Given the description of an element on the screen output the (x, y) to click on. 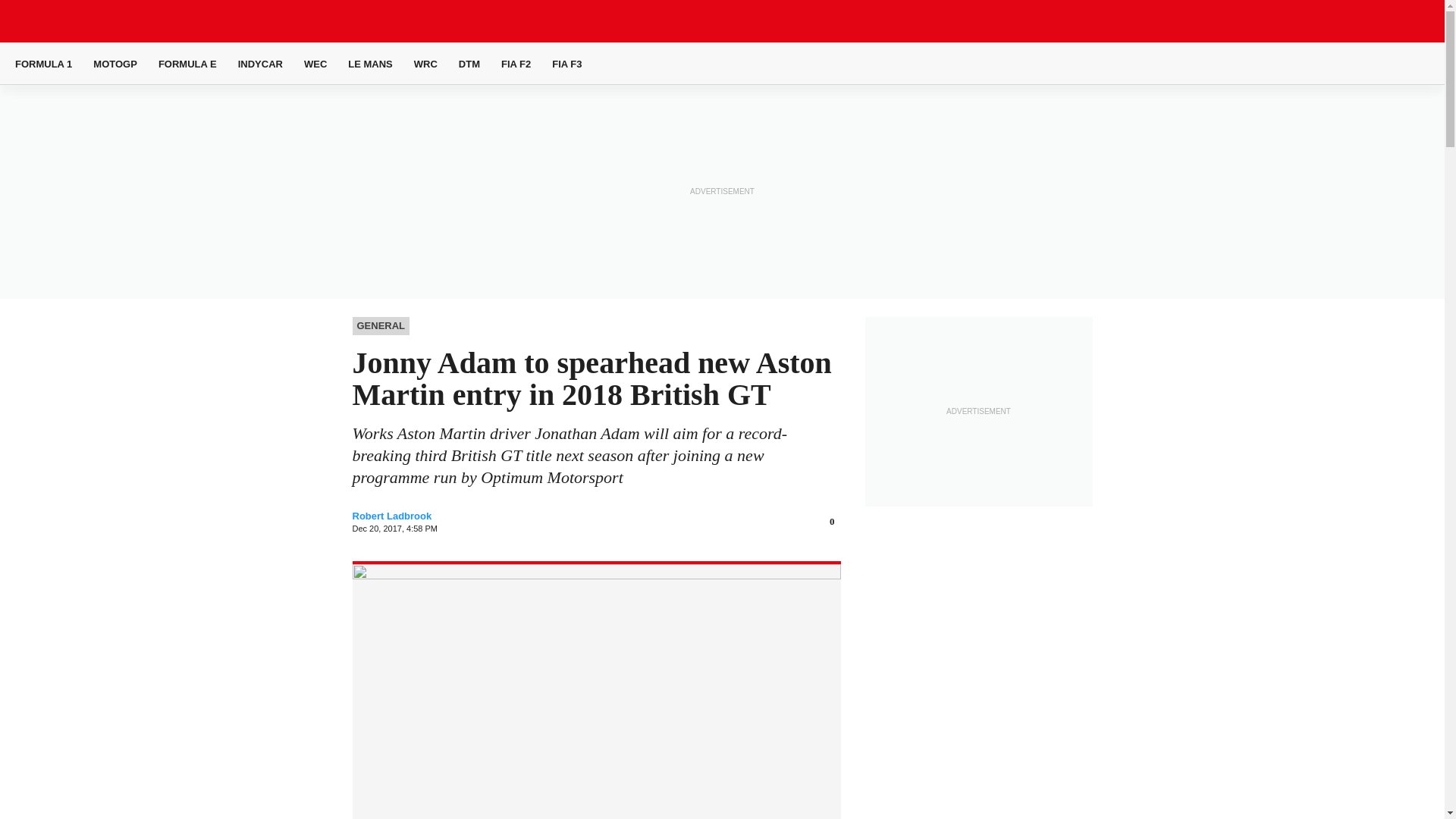
LE MANS (370, 64)
FORMULA E (187, 64)
INDYCAR (260, 64)
MOTOGP (114, 64)
FORMULA 1 (42, 64)
